Given the description of an element on the screen output the (x, y) to click on. 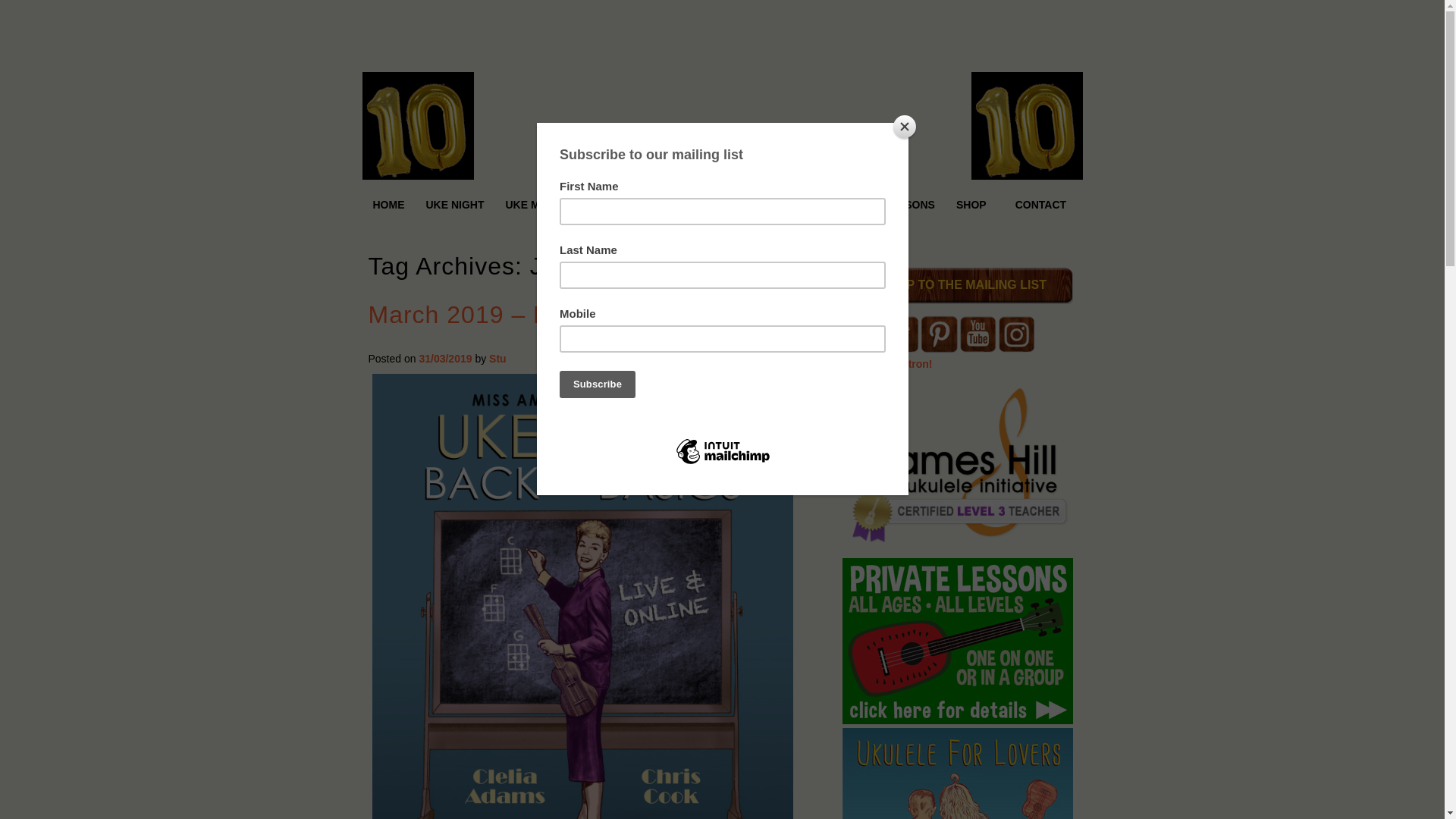
Visit Us On Instagram (1015, 349)
Visit Us On Twitter (900, 349)
3:27 am (445, 358)
Visit Us On Pinterest (938, 349)
View all posts by Stu (497, 358)
Visit Us On Youtube (977, 349)
UKE NIGHT (454, 204)
Visit Us On Facebook (860, 349)
HOME (388, 204)
